Given the description of an element on the screen output the (x, y) to click on. 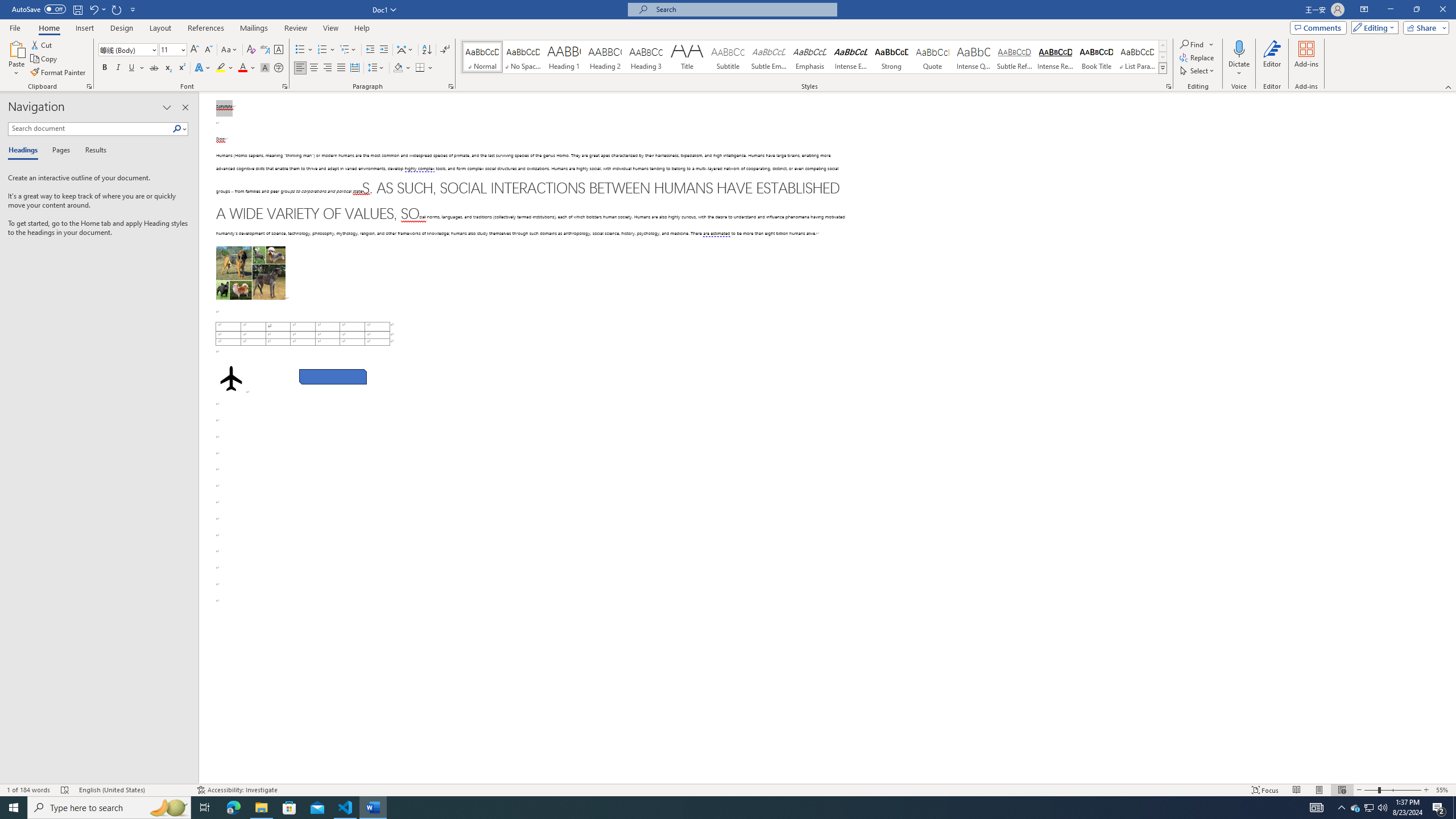
AutomationID: QuickStylesGallery (814, 56)
Font (128, 49)
Review (295, 28)
Select (1197, 69)
Insert (83, 28)
Styles... (1168, 85)
Sort... (426, 49)
Find (1197, 44)
Underline (131, 67)
Dictate (1238, 48)
Distributed (354, 67)
Mode (1372, 27)
Close pane (185, 107)
Strikethrough (154, 67)
